Given the description of an element on the screen output the (x, y) to click on. 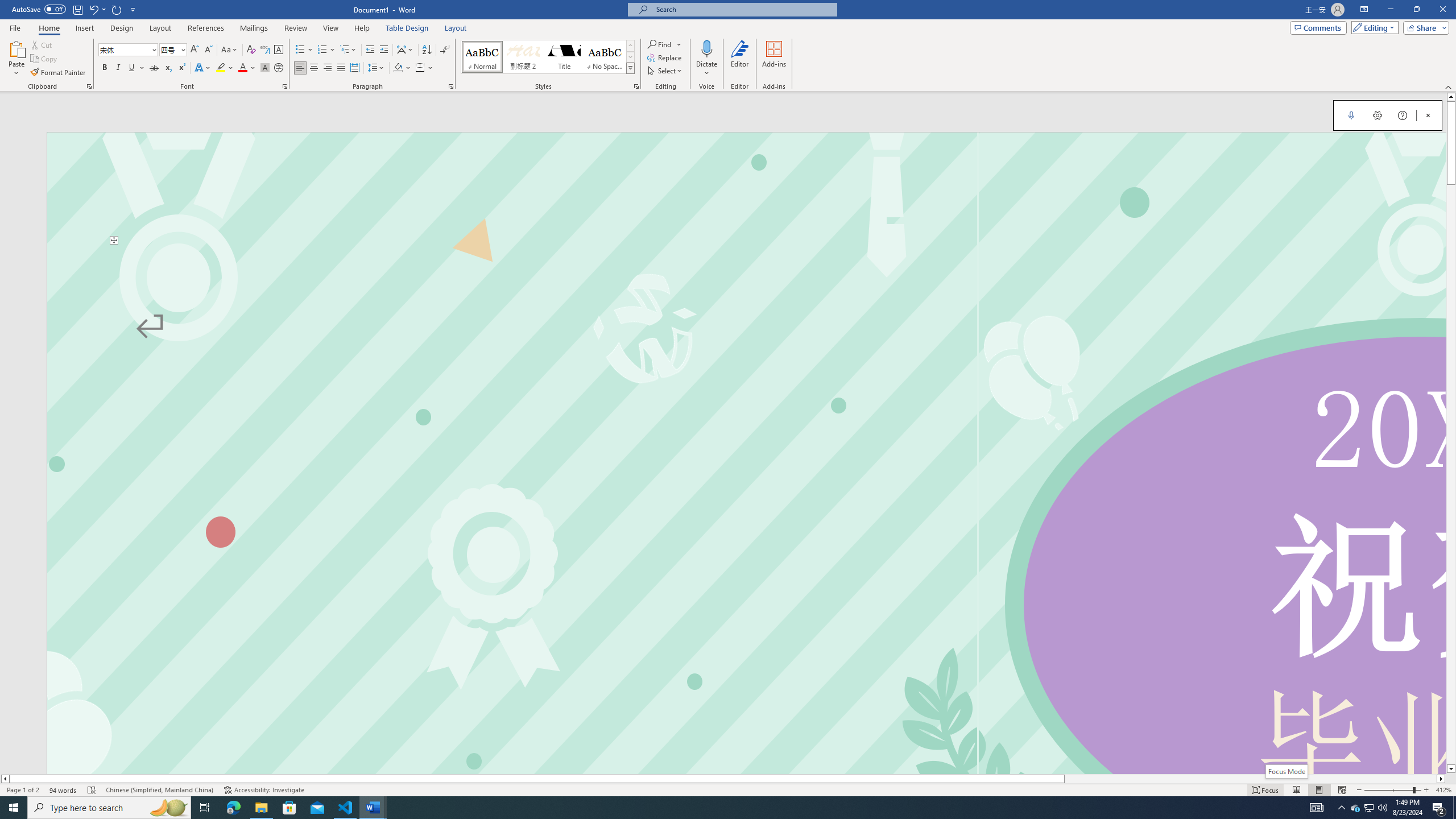
Undo Text Fill Effect (96, 9)
